Given the description of an element on the screen output the (x, y) to click on. 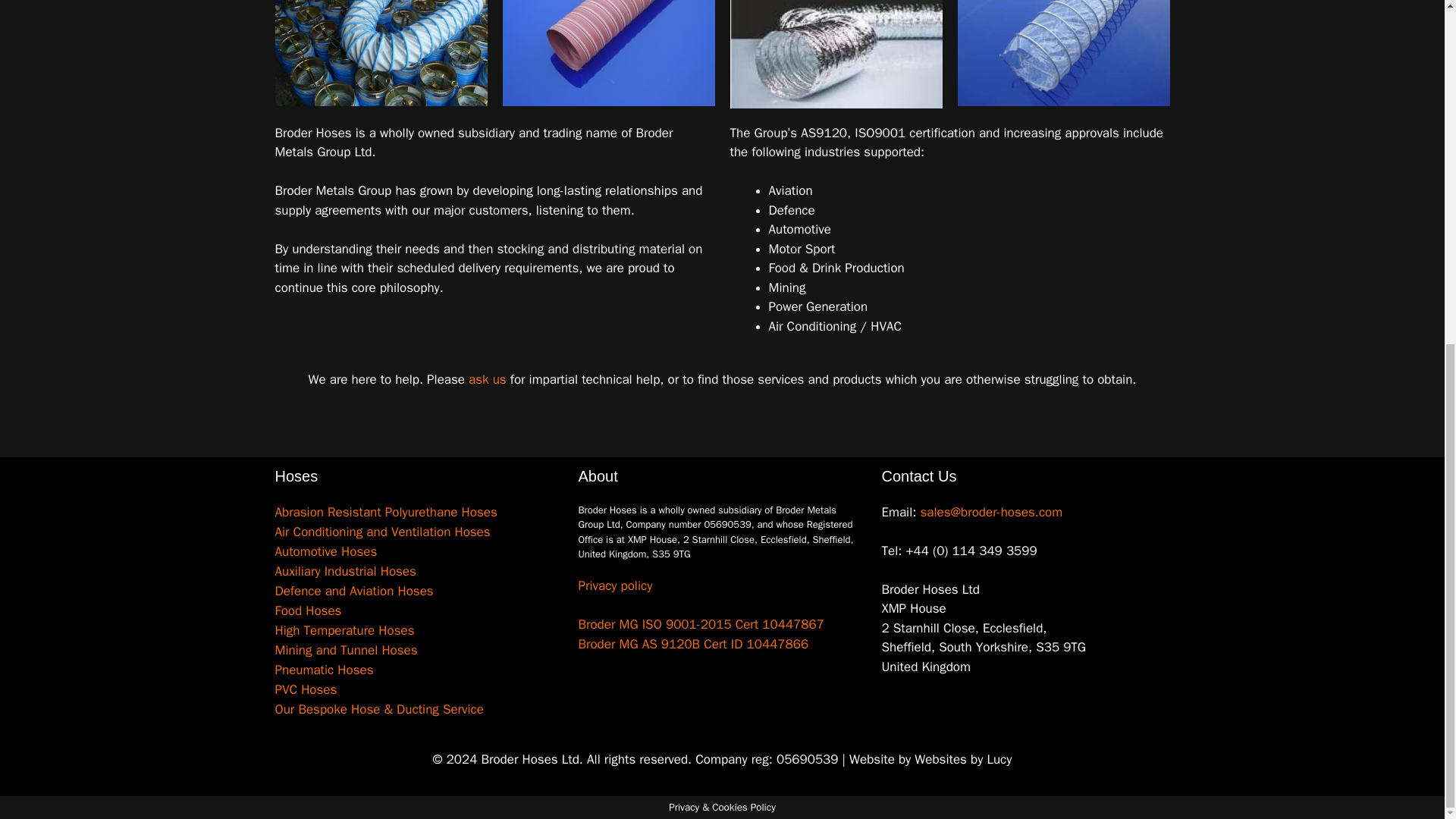
ask us (487, 379)
Mining and Tunnel Hoses (418, 650)
Defence and Aviation Hoses (418, 591)
Automotive Hoses (418, 551)
Food Hoses (418, 610)
Air Conditioning and Ventilation Hoses (418, 532)
High Temperature Hoses (418, 630)
Auxiliary Industrial Hoses (418, 571)
Pneumatic Hoses (418, 670)
Abrasion Resistant Polyurethane Hoses (418, 512)
